Given the description of an element on the screen output the (x, y) to click on. 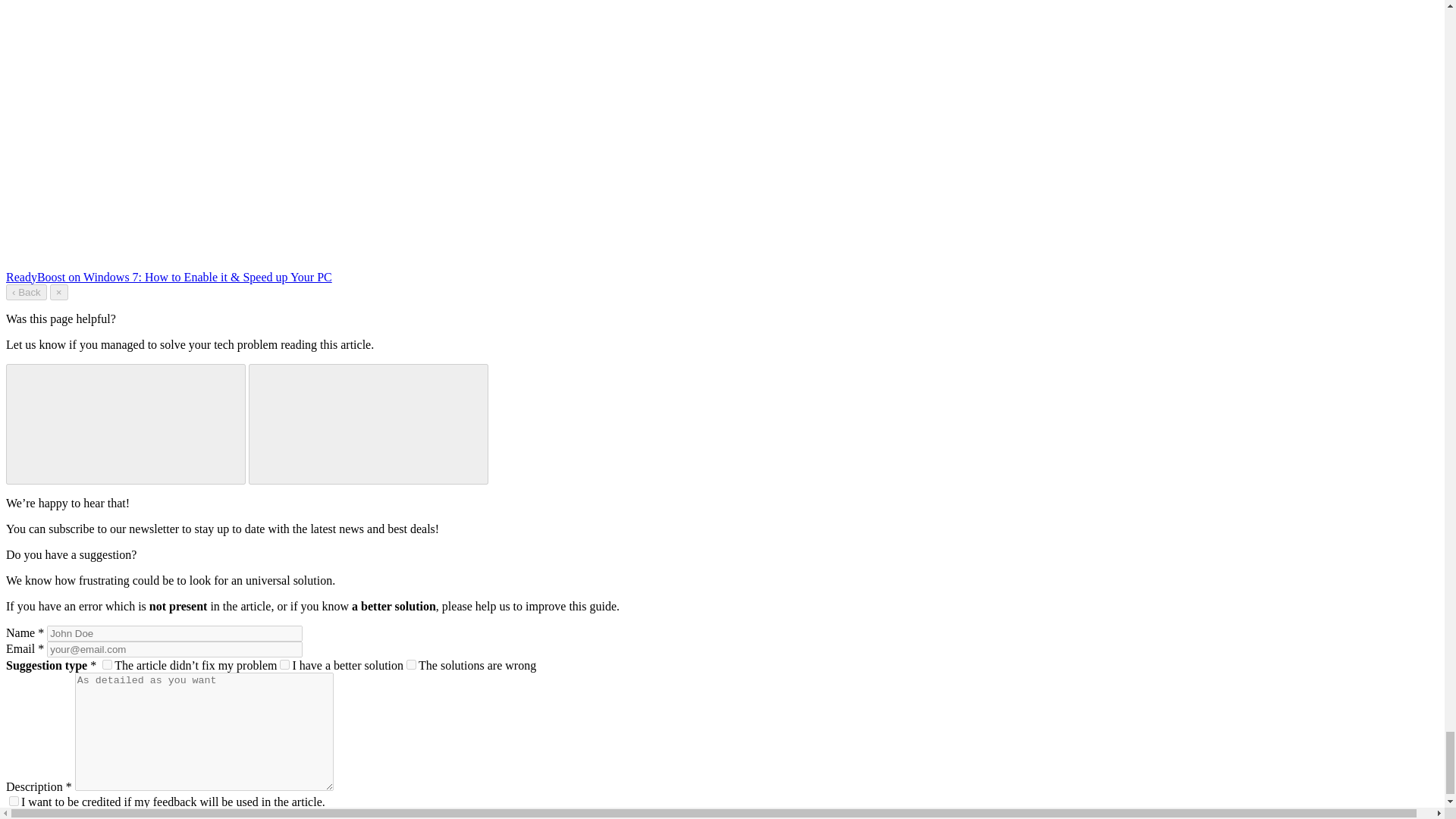
1 (13, 800)
I have a better solution (284, 664)
The solutions are wrong (411, 664)
